Given the description of an element on the screen output the (x, y) to click on. 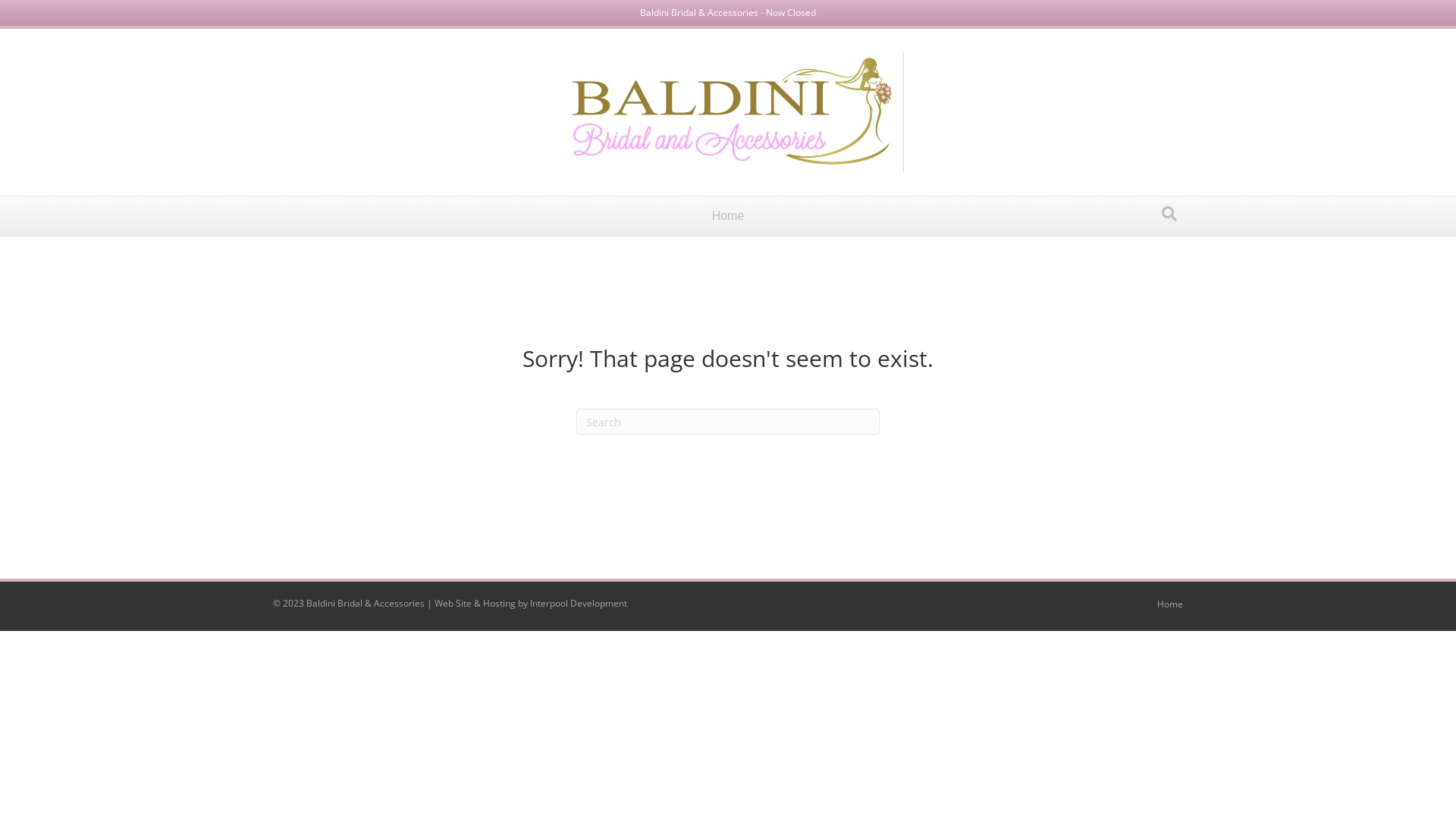
Type and press Enter to search. Element type: hover (727, 421)
Home Element type: text (728, 215)
Interpool Development Element type: text (578, 602)
Home Element type: text (1169, 609)
